Given the description of an element on the screen output the (x, y) to click on. 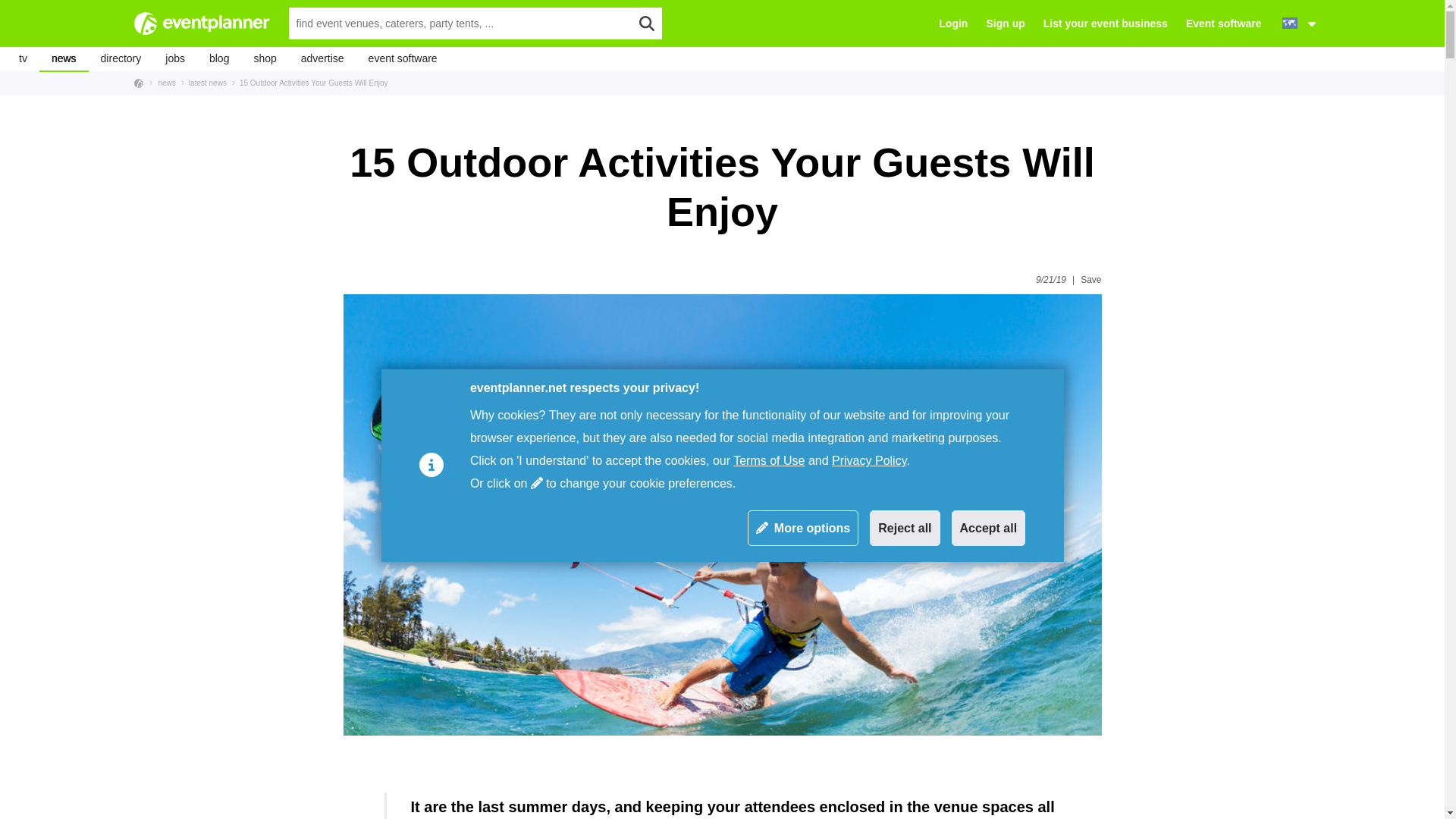
List your event business (1105, 23)
Event software (1224, 23)
shop (264, 58)
Sign up (1005, 23)
directory (121, 58)
tv (23, 58)
15 Outdoor Activities Your Guests Will Enjoy (309, 82)
Login (953, 23)
news (63, 58)
advertise (322, 58)
blog (218, 58)
jobs (174, 58)
